Given the description of an element on the screen output the (x, y) to click on. 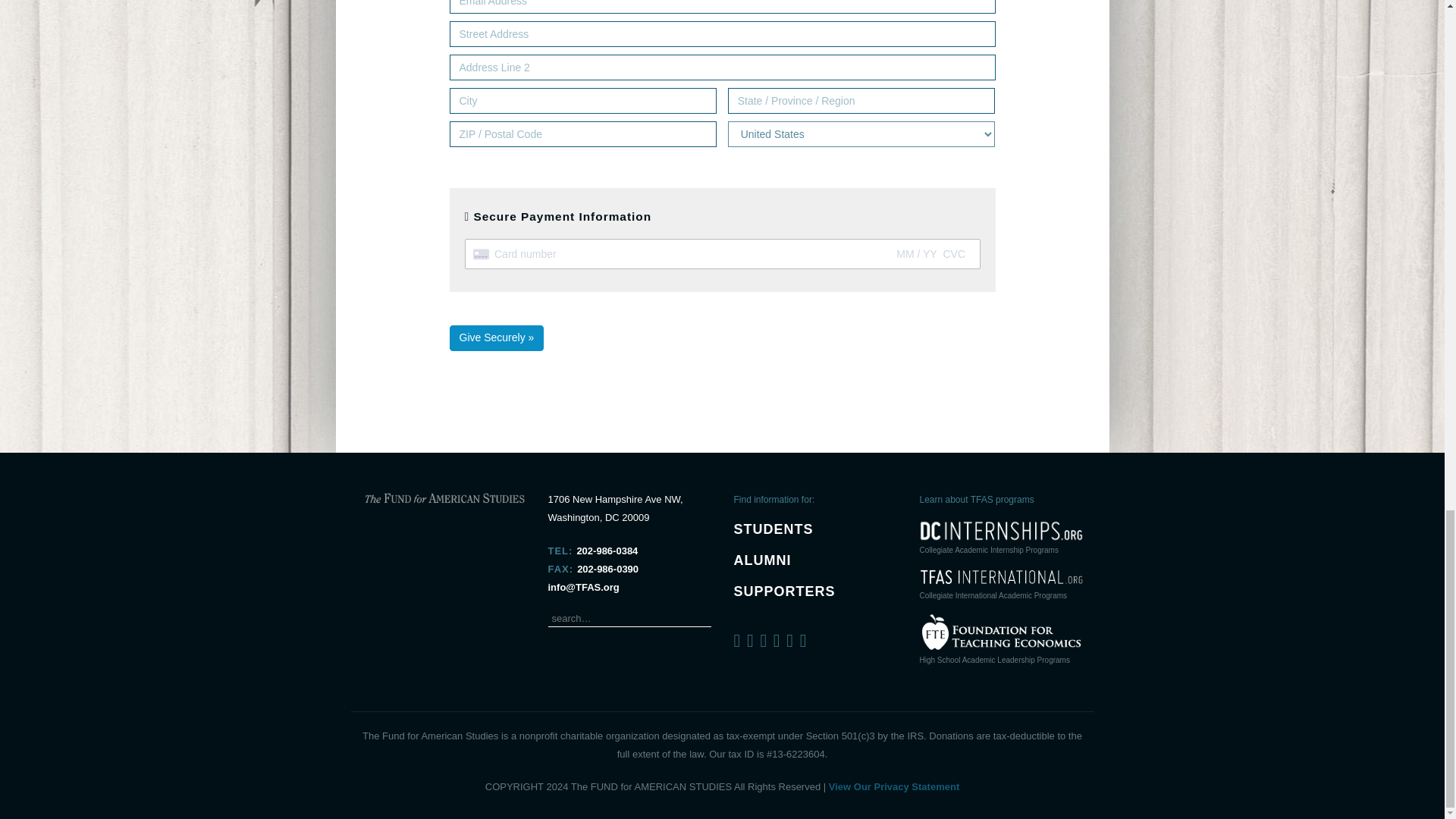
STUDENTS (773, 529)
Secure card payment input frame (722, 254)
SUPPORTERS (784, 590)
ALUMNI (762, 560)
